Given the description of an element on the screen output the (x, y) to click on. 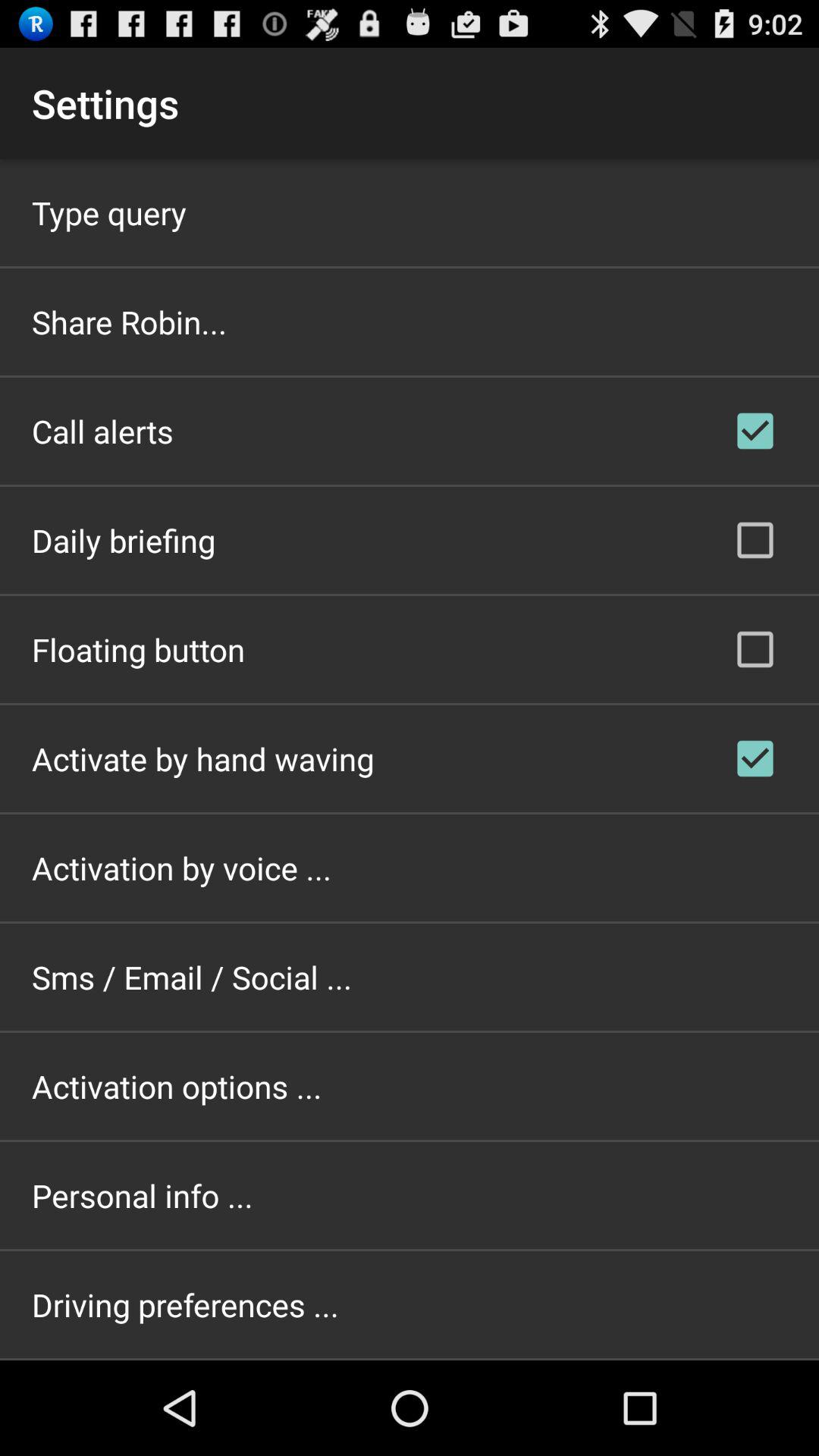
choose the icon below the call alerts item (123, 539)
